Given the description of an element on the screen output the (x, y) to click on. 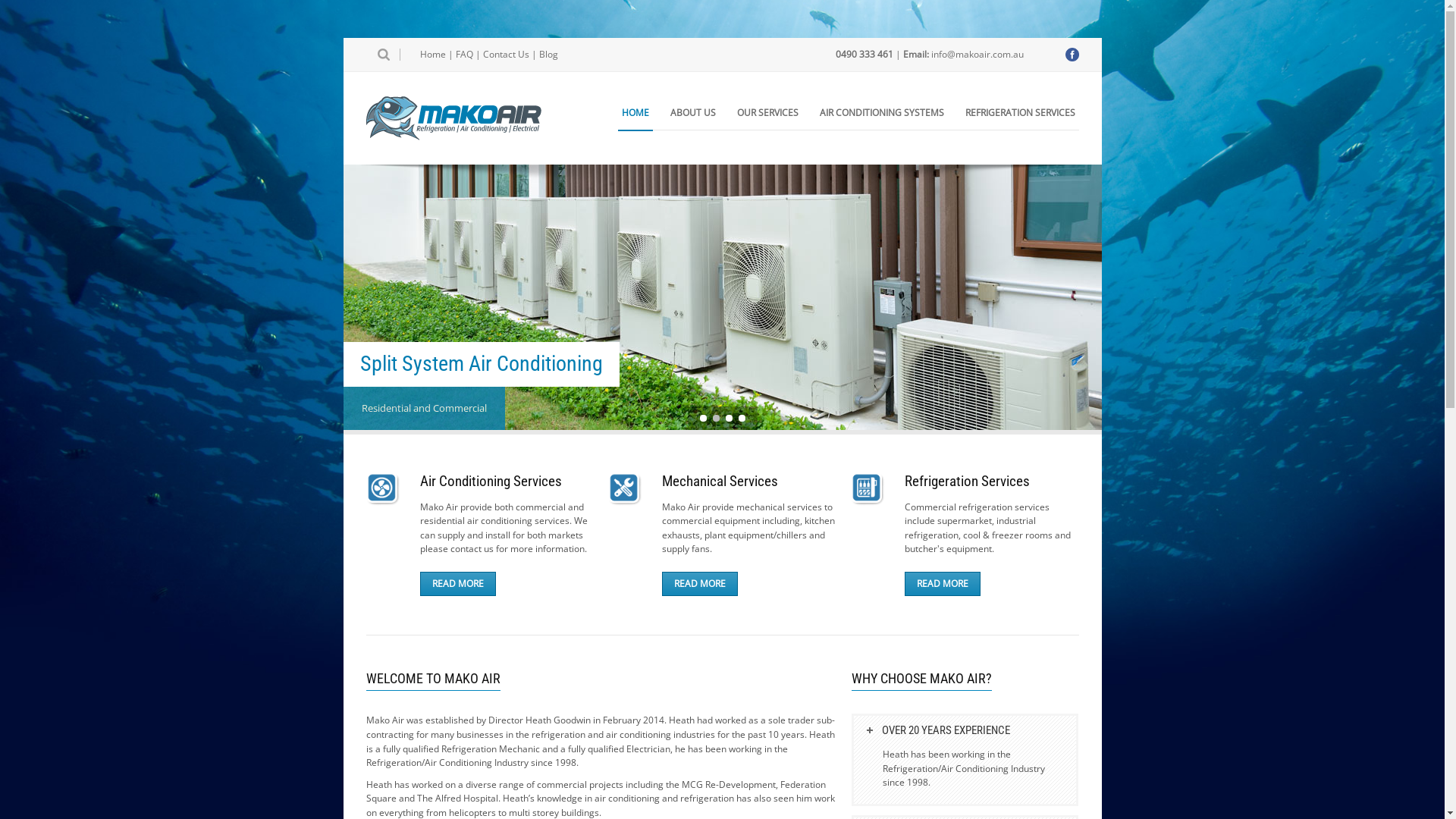
REFRIGERATION SERVICES Element type: text (1020, 112)
info@makoair.com.au Element type: text (977, 53)
OUR SERVICES Element type: text (766, 112)
HOME Element type: text (634, 112)
4 Element type: text (741, 417)
AIR CONDITIONING SYSTEMS Element type: text (881, 112)
ABOUT US Element type: text (691, 112)
Contact Us Element type: text (505, 53)
READ MORE Element type: text (942, 583)
3 Element type: text (727, 417)
1 Element type: text (702, 417)
Blog Element type: text (547, 53)
READ MORE Element type: text (699, 583)
FAQ Element type: text (463, 53)
Home Element type: text (432, 53)
READ MORE Element type: text (457, 583)
2 Element type: text (715, 417)
